Given the description of an element on the screen output the (x, y) to click on. 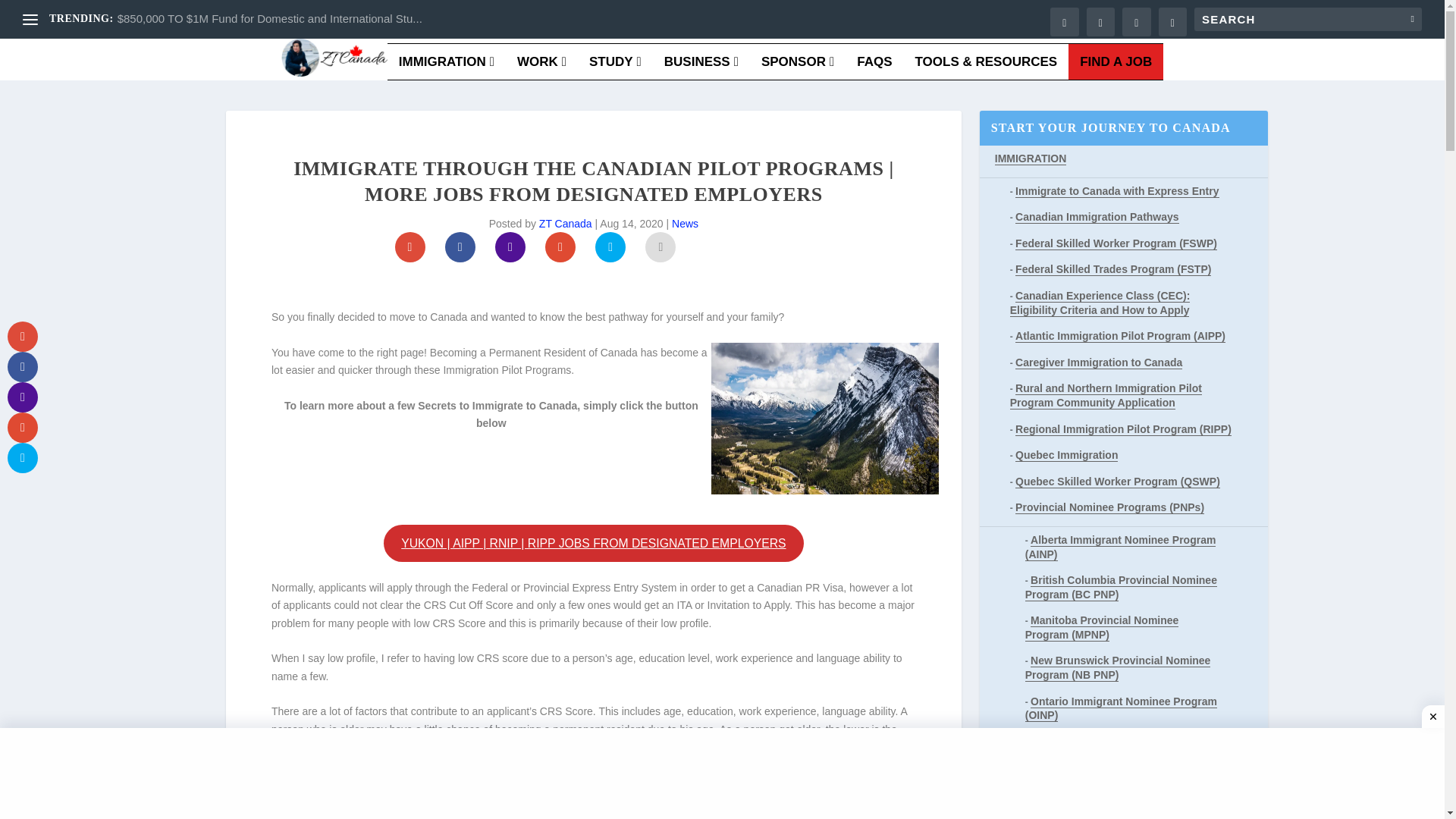
Posts by ZT Canada (565, 223)
Search for: (1307, 19)
IMMIGRATION (446, 67)
